Given the description of an element on the screen output the (x, y) to click on. 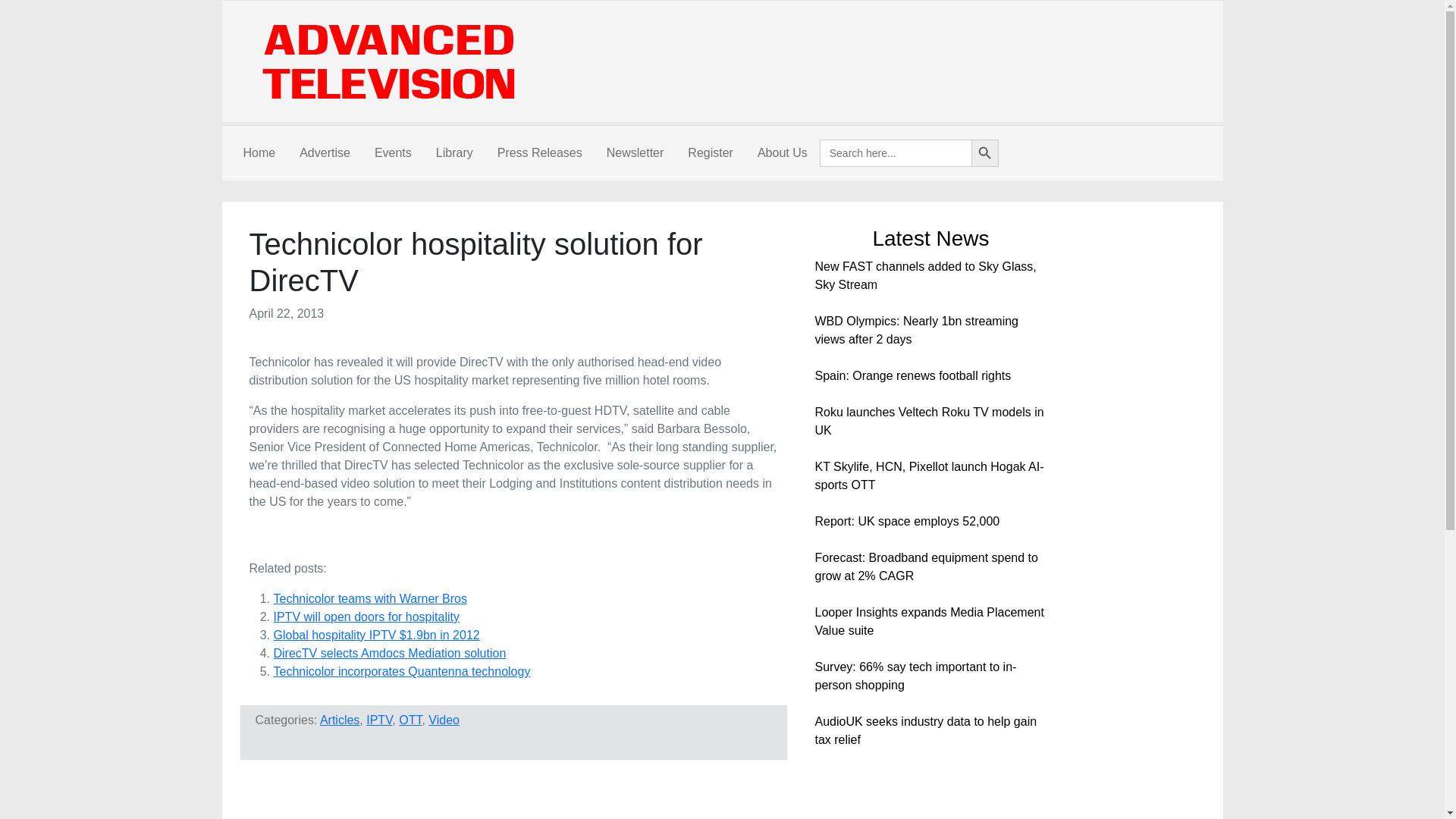
Home (258, 153)
OTT (410, 719)
Technicolor teams with Warner Bros (370, 598)
DirecTV selects Amdocs Mediation solution (389, 653)
Newsletter (635, 153)
Advertise (324, 153)
New FAST channels added to Sky Glass, Sky Stream (924, 275)
Register (710, 153)
Looper Insights expands Media Placement Value suite (928, 621)
AudioUK seeks industry data to help gain tax relief (924, 730)
DirecTV selects Amdocs Mediation solution (389, 653)
Technicolor incorporates Quantenna technology (401, 671)
KT Skylife, HCN, Pixellot launch Hogak AI-sports OTT (928, 475)
Library (453, 153)
Report: UK space employs 52,000 (905, 521)
